Given the description of an element on the screen output the (x, y) to click on. 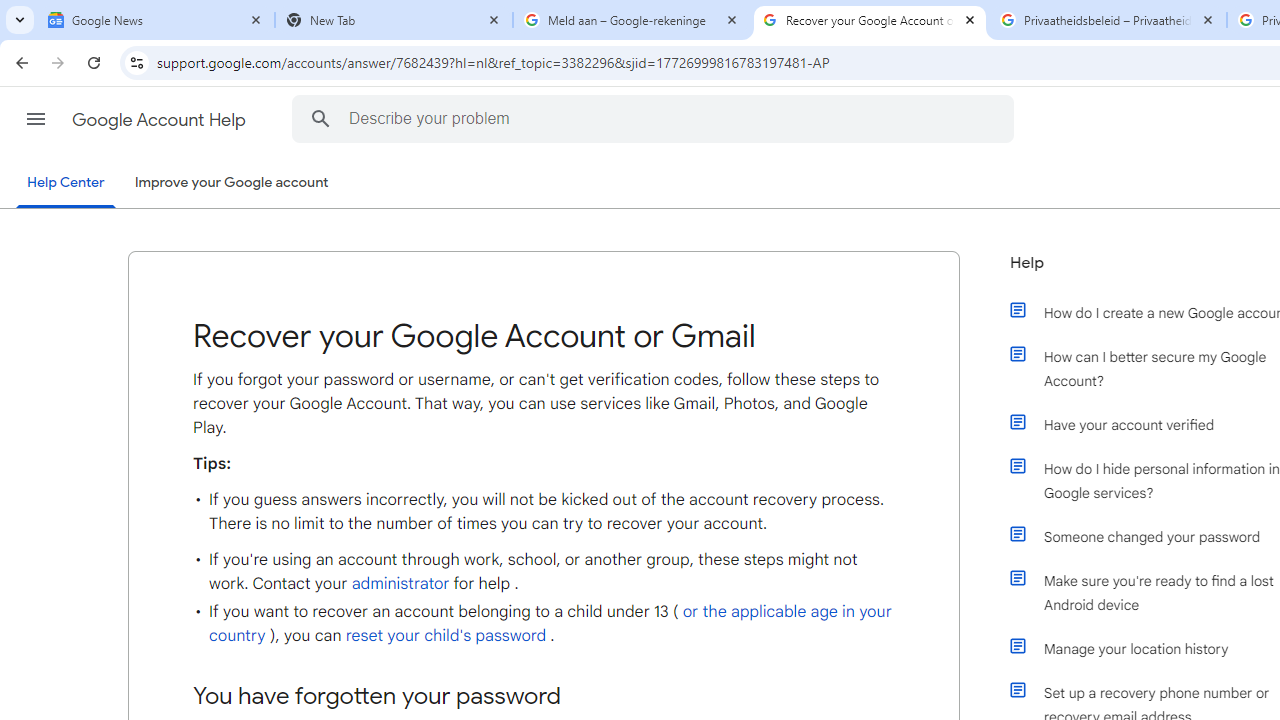
Describe your problem (655, 118)
Google News (156, 20)
administrator (400, 583)
New Tab (394, 20)
